Given the description of an element on the screen output the (x, y) to click on. 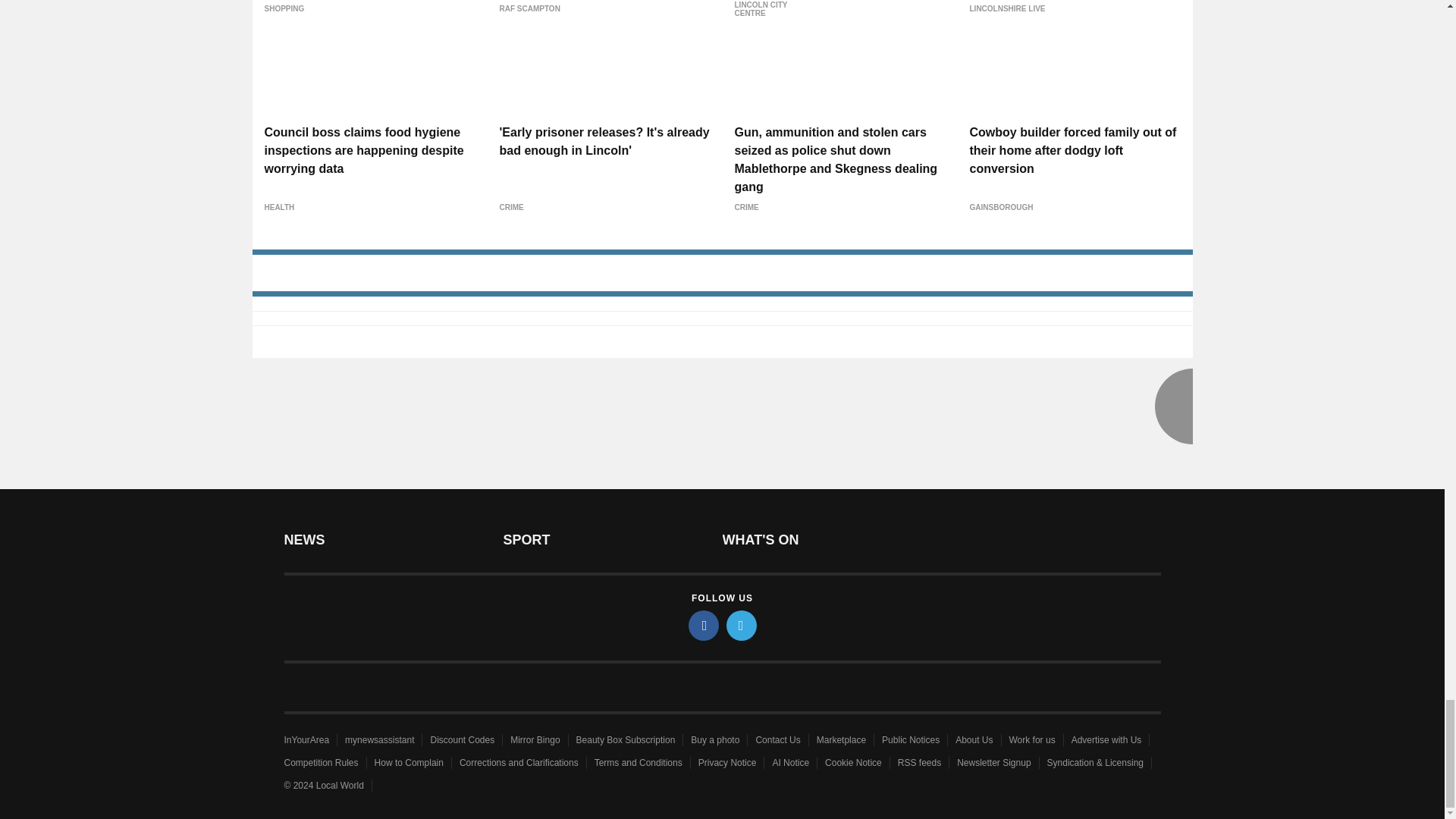
facebook (703, 625)
twitter (741, 625)
